Given the description of an element on the screen output the (x, y) to click on. 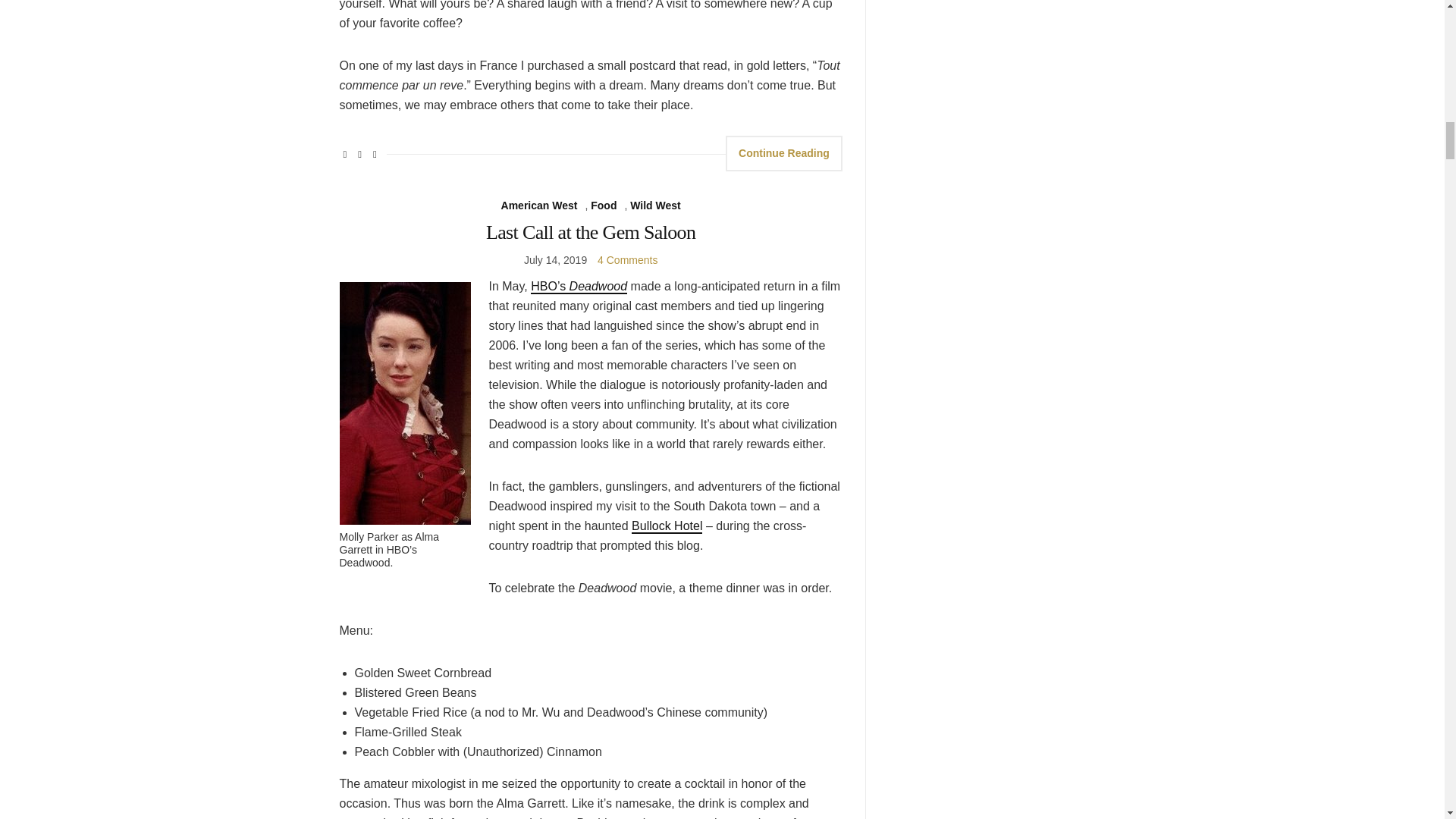
American West (539, 205)
4 Comments (627, 259)
Last Call at the Gem Saloon (590, 232)
Bullock Hotel (666, 526)
Wild West (655, 205)
Food (603, 205)
Continue Reading (784, 153)
